Given the description of an element on the screen output the (x, y) to click on. 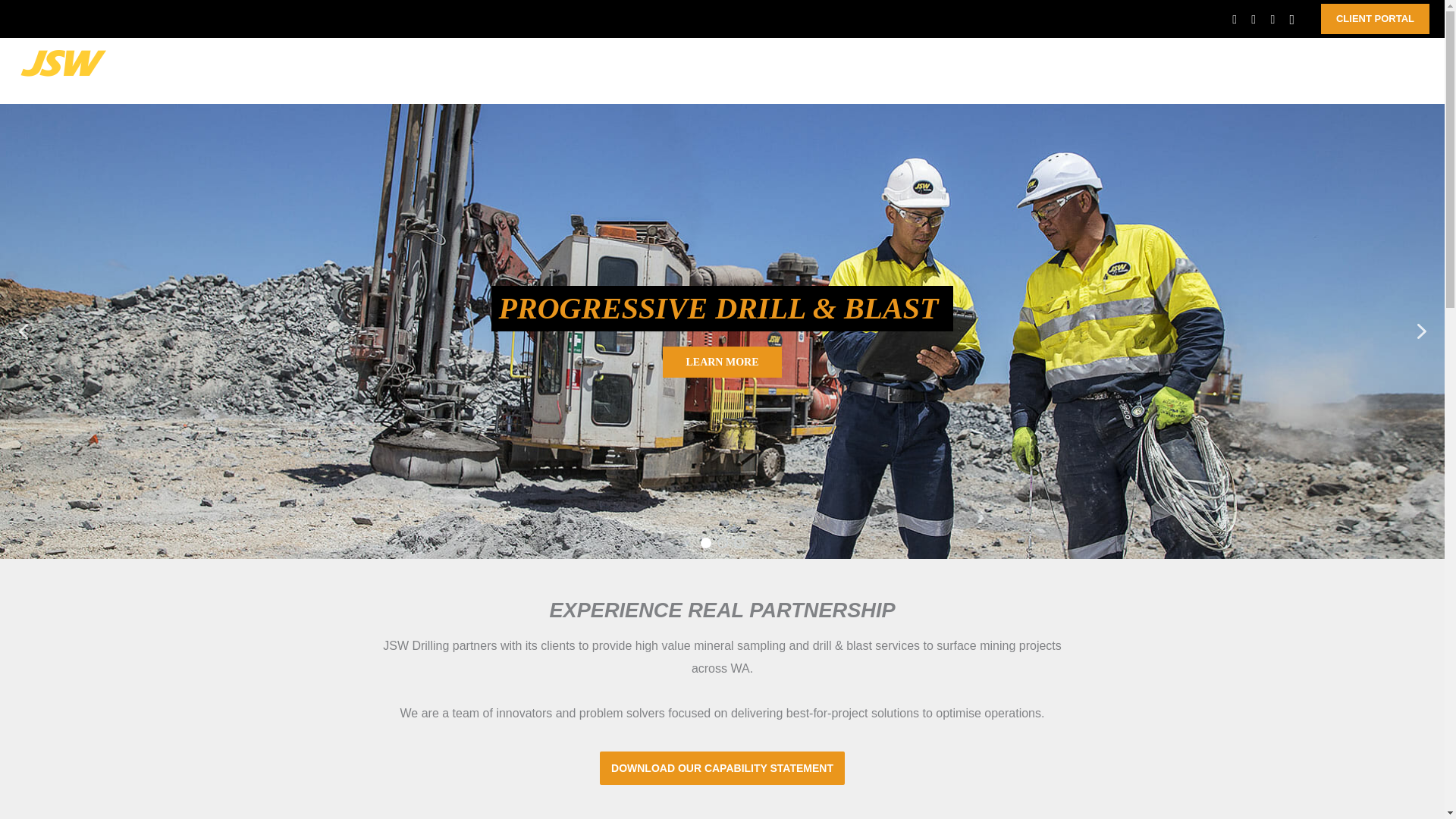
Careers (1183, 70)
Sustainability (1087, 70)
About (848, 70)
Services (925, 70)
Projects (1000, 70)
CLIENT PORTAL (1374, 19)
